Given the description of an element on the screen output the (x, y) to click on. 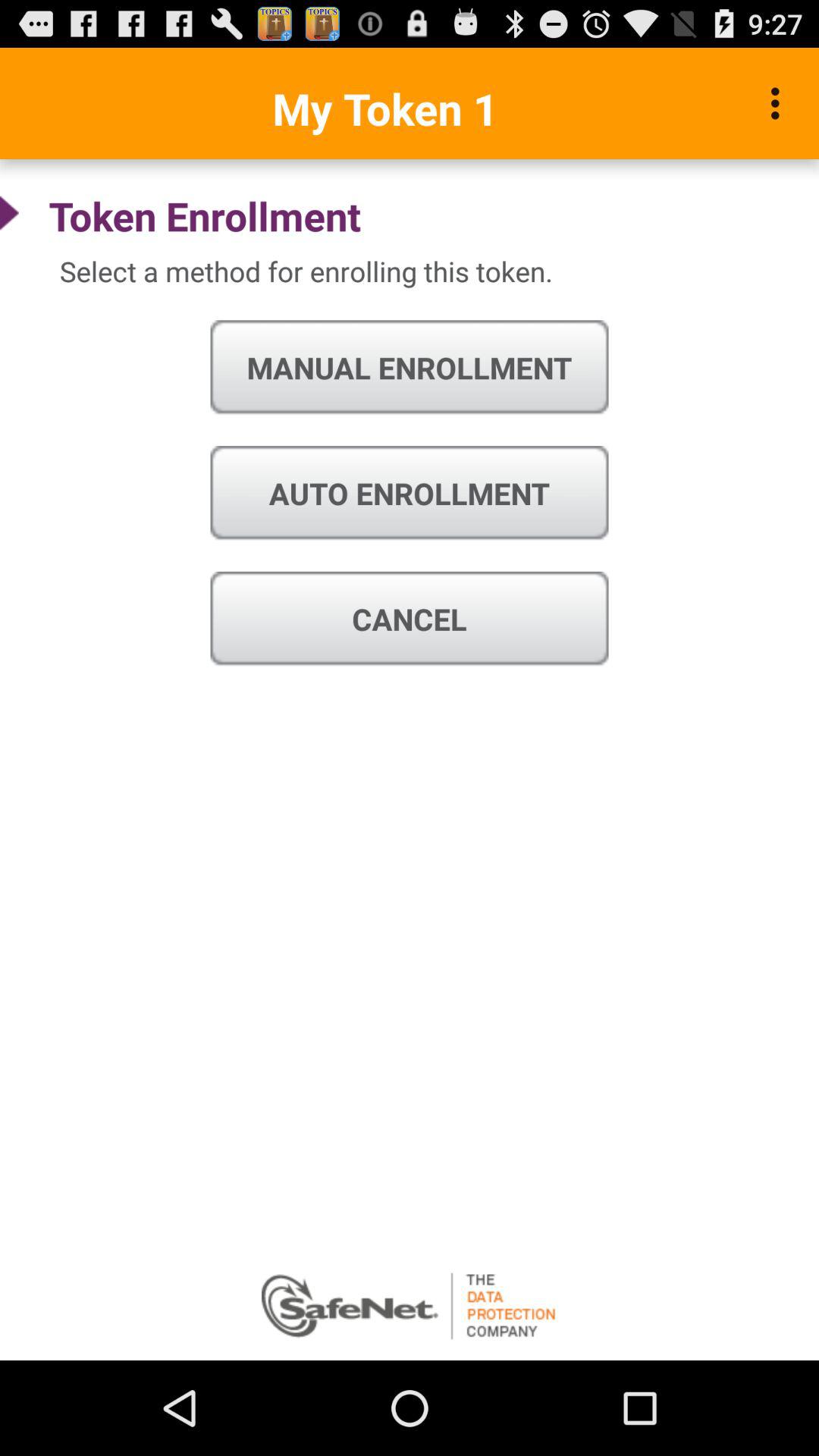
open icon below the manual enrollment (409, 493)
